Given the description of an element on the screen output the (x, y) to click on. 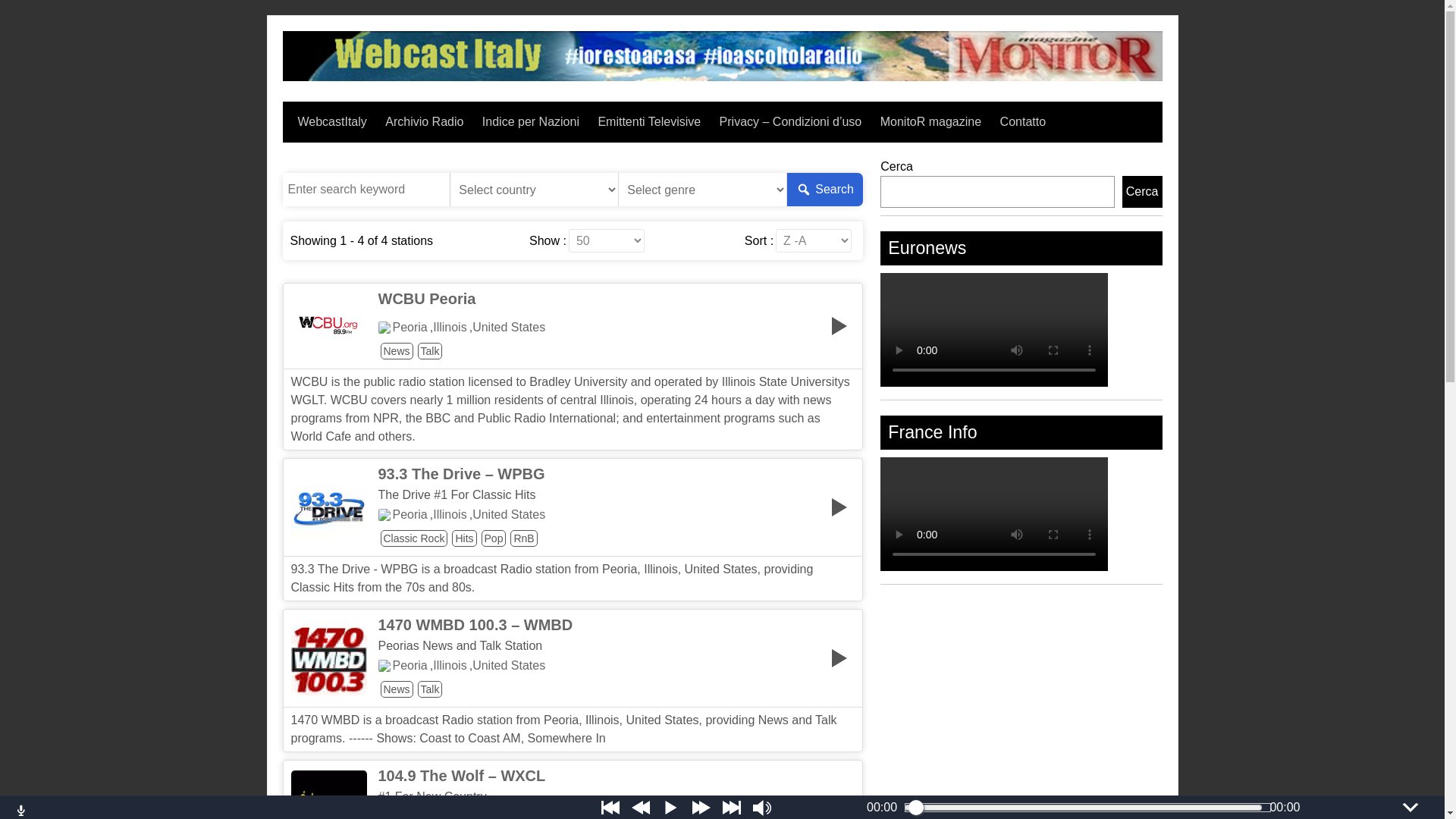
WebcastItaly (331, 121)
MonitoR magazine (930, 121)
Contatto (1022, 121)
Progress (1083, 807)
Archivio Radio (424, 121)
Forward 15 seconds (701, 807)
Webcastitaly (721, 76)
Previous Episode (609, 807)
Rewind 10 seconds (640, 807)
Next Episode (731, 807)
